Given the description of an element on the screen output the (x, y) to click on. 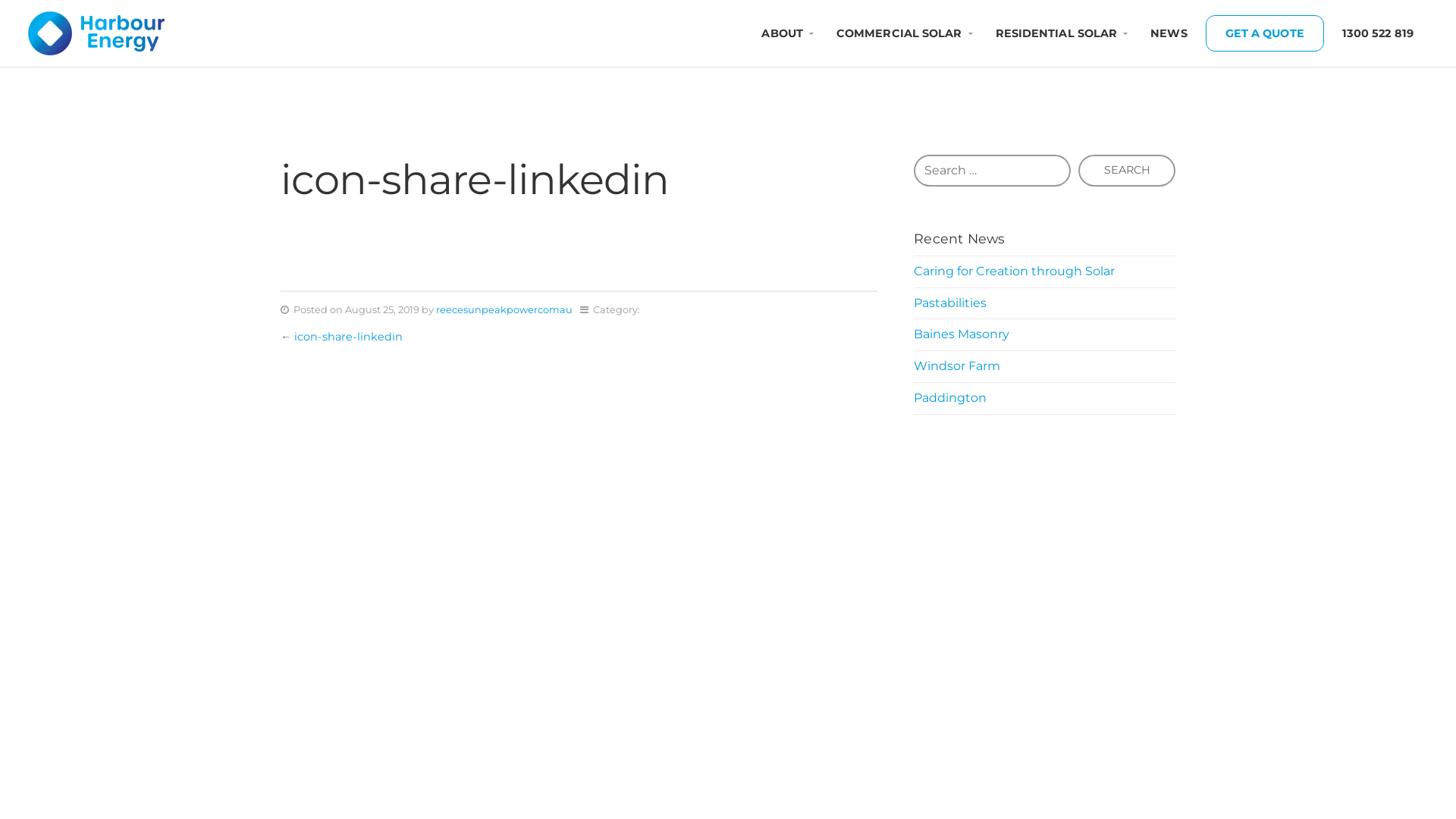
GET A QUOTE Element type: text (1264, 33)
Baines Masonry Element type: text (961, 333)
RESIDENTIAL SOLAR Element type: text (1056, 33)
Pastabilities Element type: text (949, 302)
Windsor Farm Element type: text (956, 365)
1300 522 819 Element type: text (1377, 33)
COMMERCIAL SOLAR Element type: text (899, 33)
Search Element type: text (1126, 170)
Caring for Creation through Solar Element type: text (1013, 270)
NEWS Element type: text (1168, 33)
icon-share-linkedin Element type: text (348, 336)
reecesunpeakpowercomau Element type: text (504, 309)
ABOUT Element type: text (782, 33)
Paddington Element type: text (949, 397)
